Given the description of an element on the screen output the (x, y) to click on. 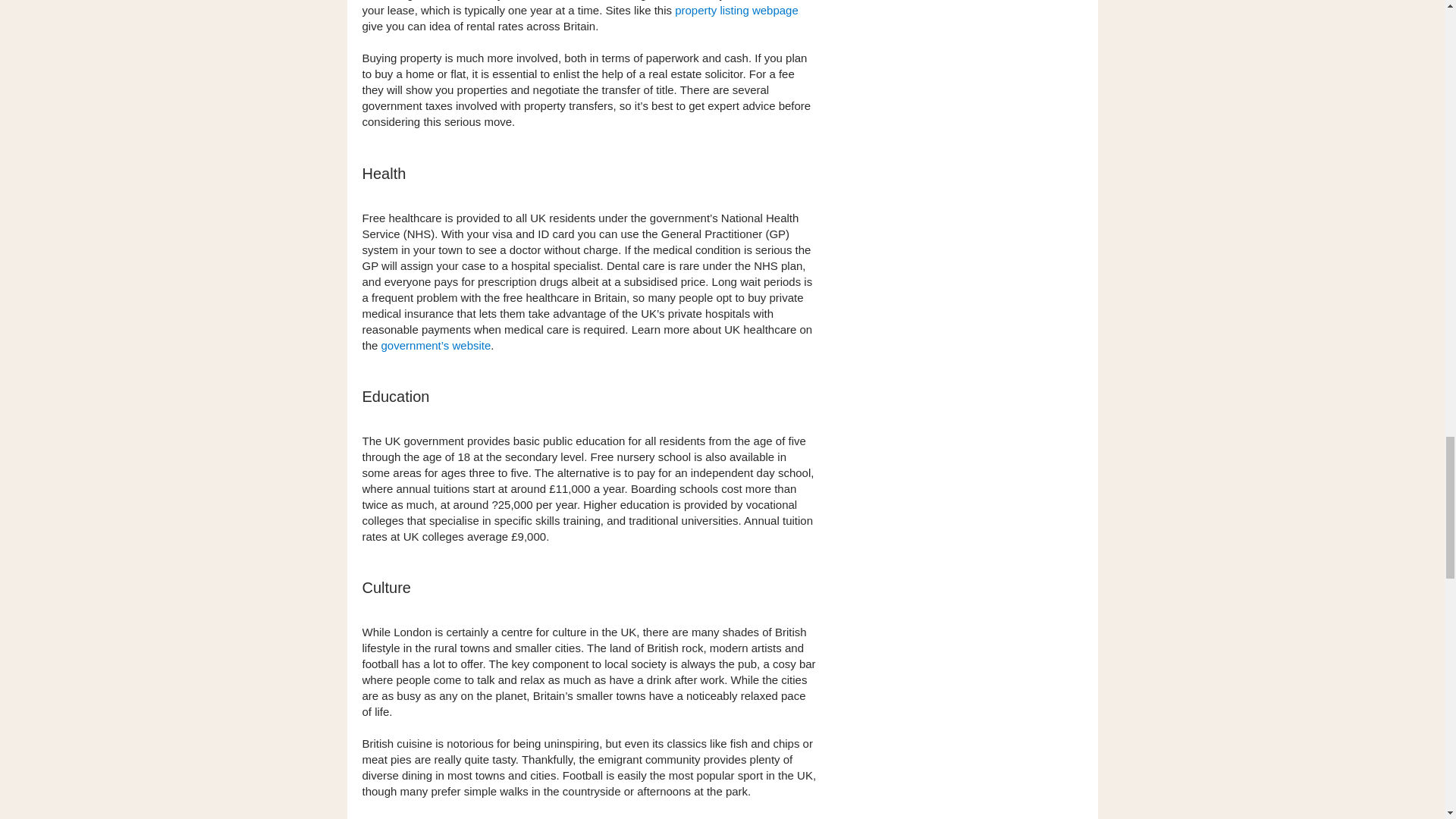
property listing webpage (736, 10)
